Given the description of an element on the screen output the (x, y) to click on. 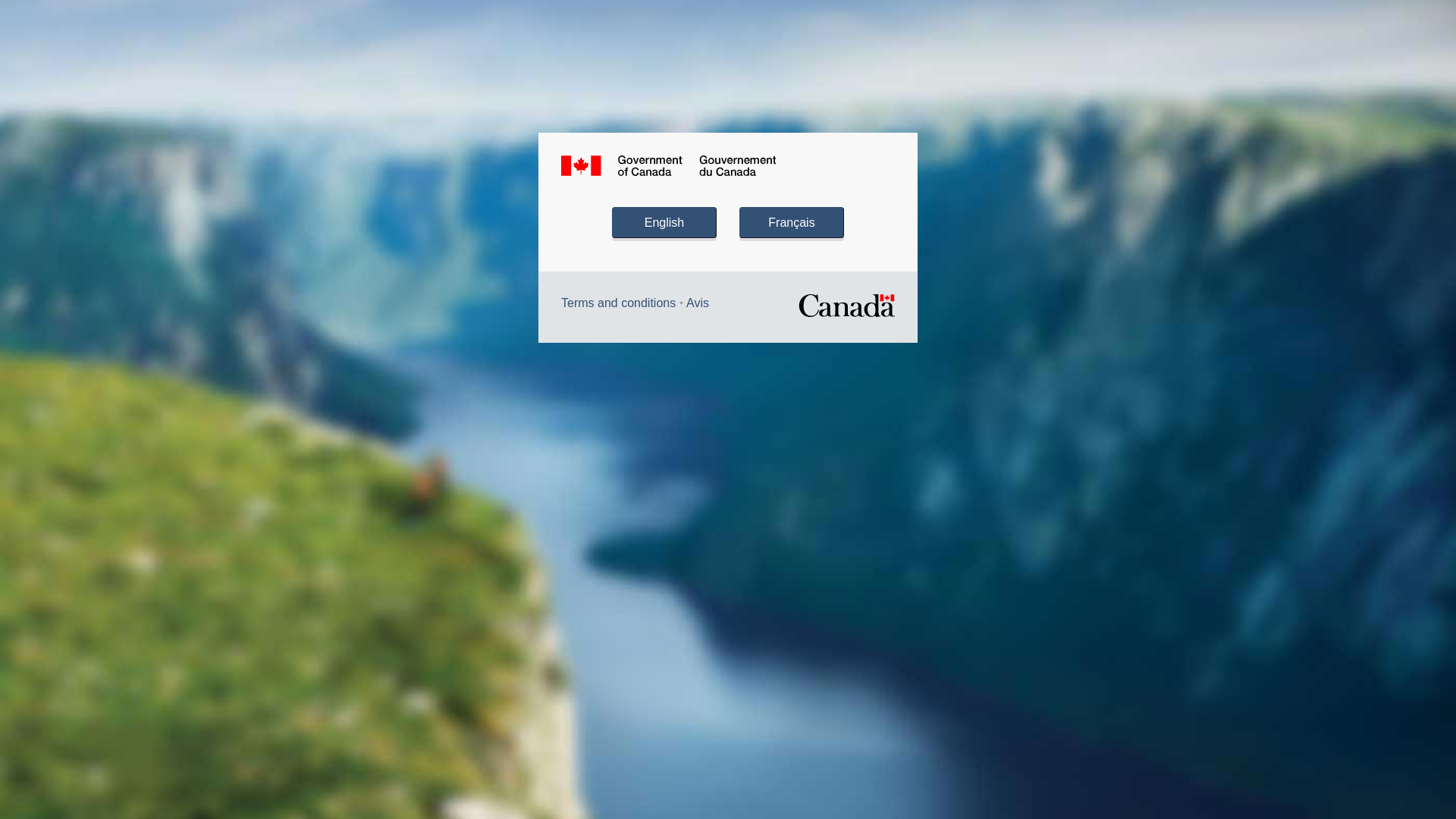
Terms and conditions Element type: text (618, 302)
Avis Element type: text (697, 302)
English Element type: text (663, 222)
